Given the description of an element on the screen output the (x, y) to click on. 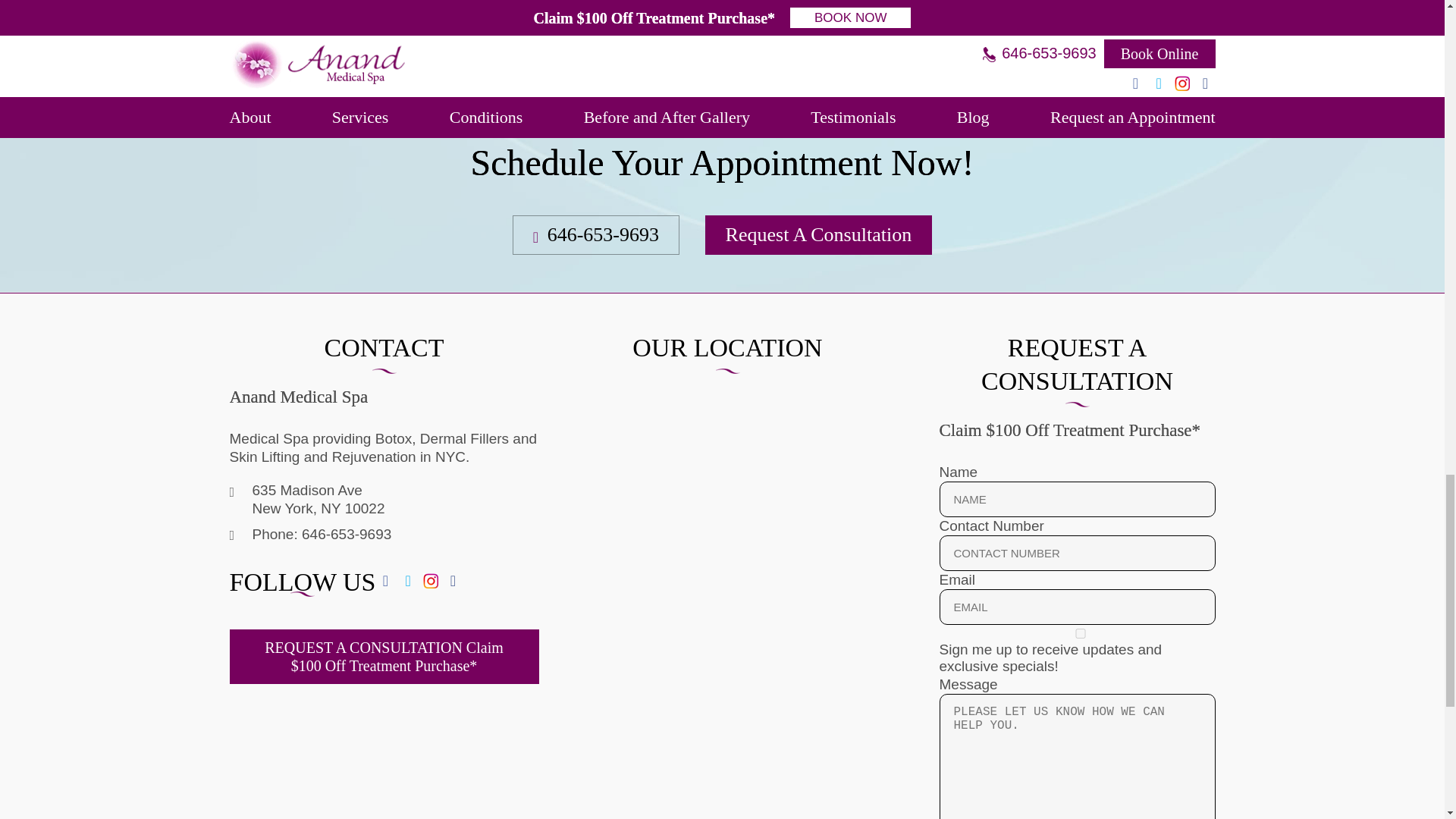
Sign me up to receive updates and exclusive specials! (1079, 633)
